Given the description of an element on the screen output the (x, y) to click on. 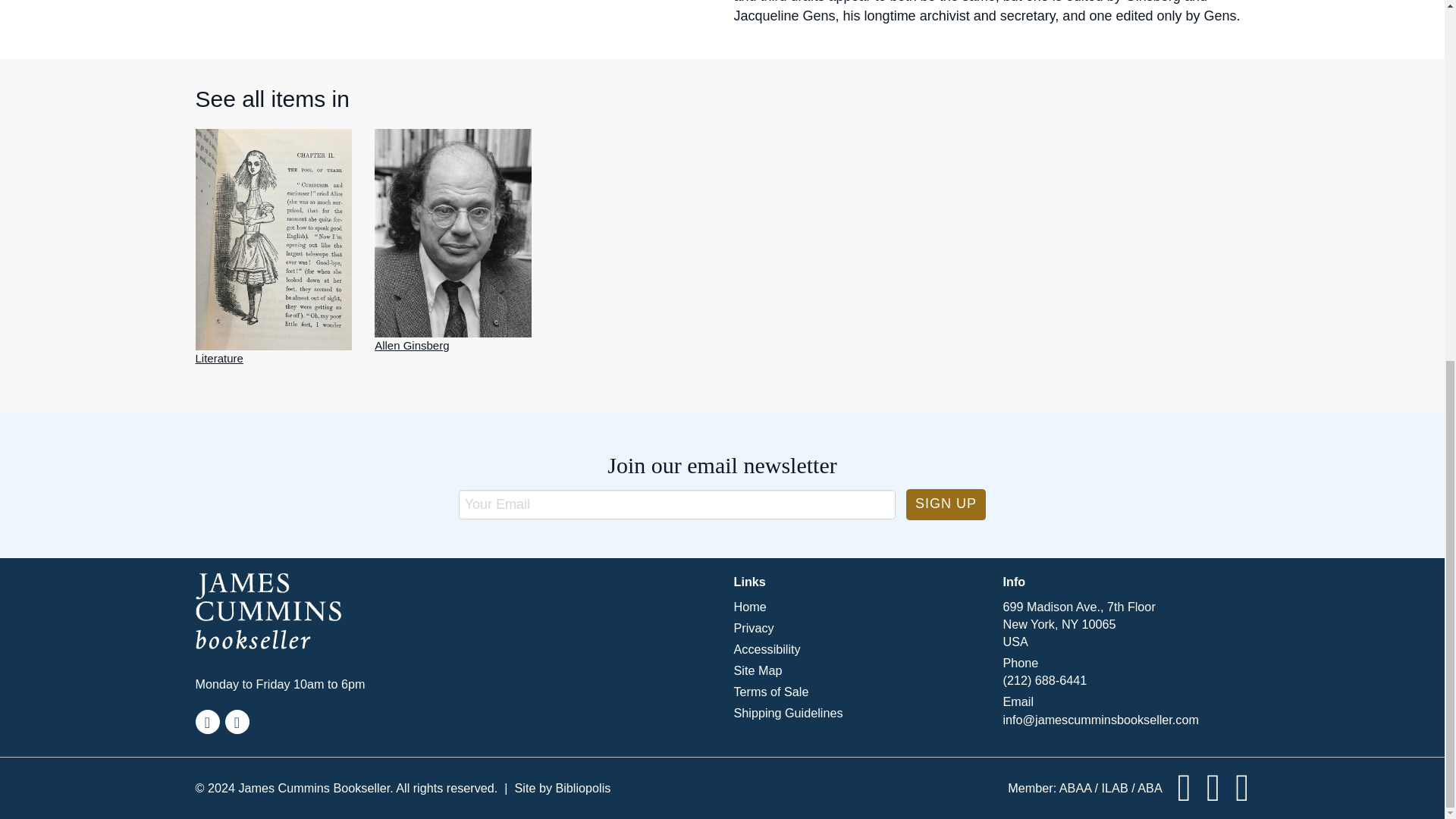
James Cummins Bookseller (318, 611)
Site by Bibliopolis (561, 787)
